Given the description of an element on the screen output the (x, y) to click on. 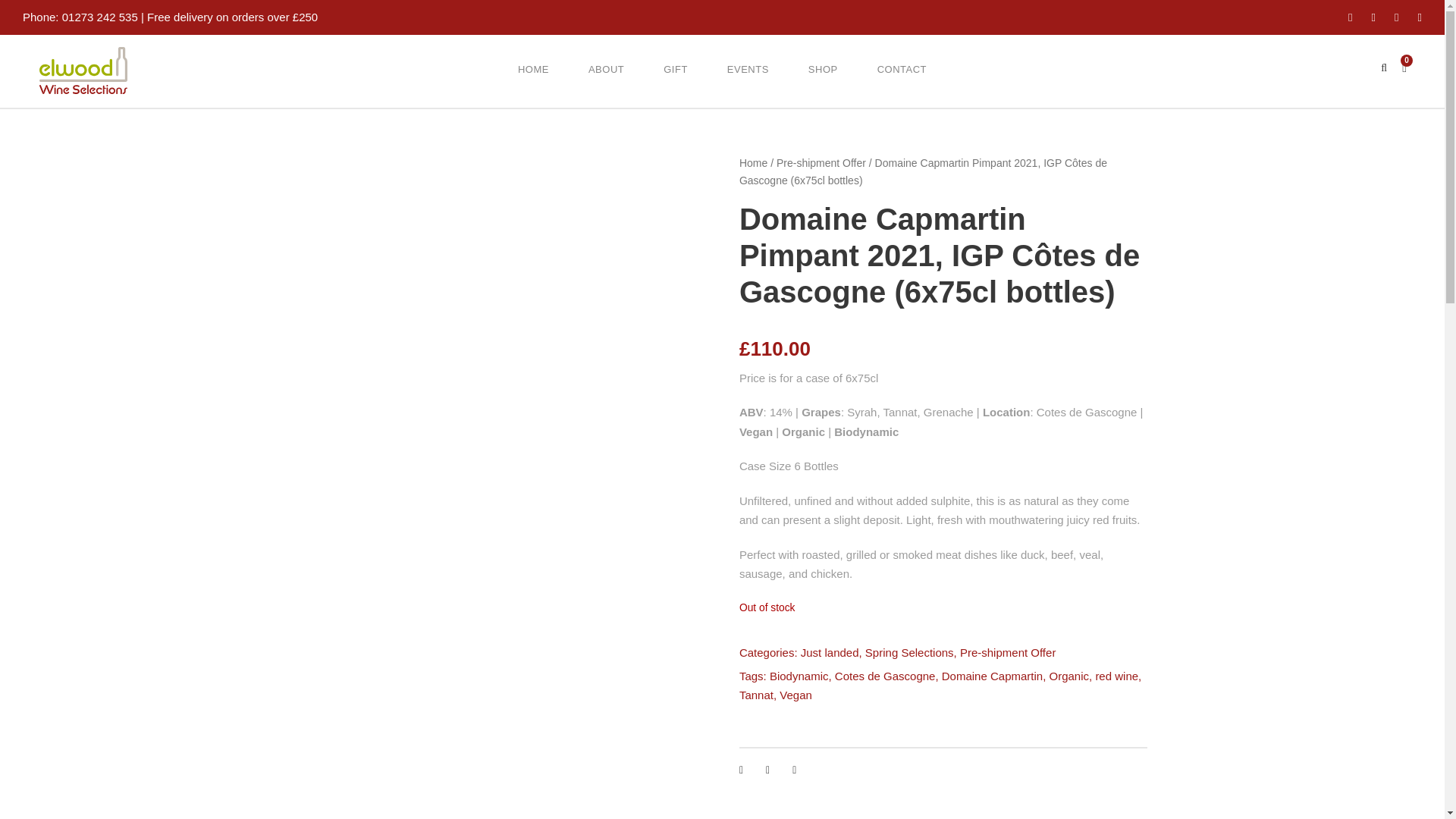
Spring Selections (908, 652)
red wine (1116, 675)
Pre-shipment Offer (821, 162)
EVENTS (747, 83)
Cotes de Gascogne (885, 675)
Biodynamic (799, 675)
Tannat (756, 694)
Vegan (795, 694)
Domaine Capmartin (992, 675)
CONTACT (901, 83)
